Given the description of an element on the screen output the (x, y) to click on. 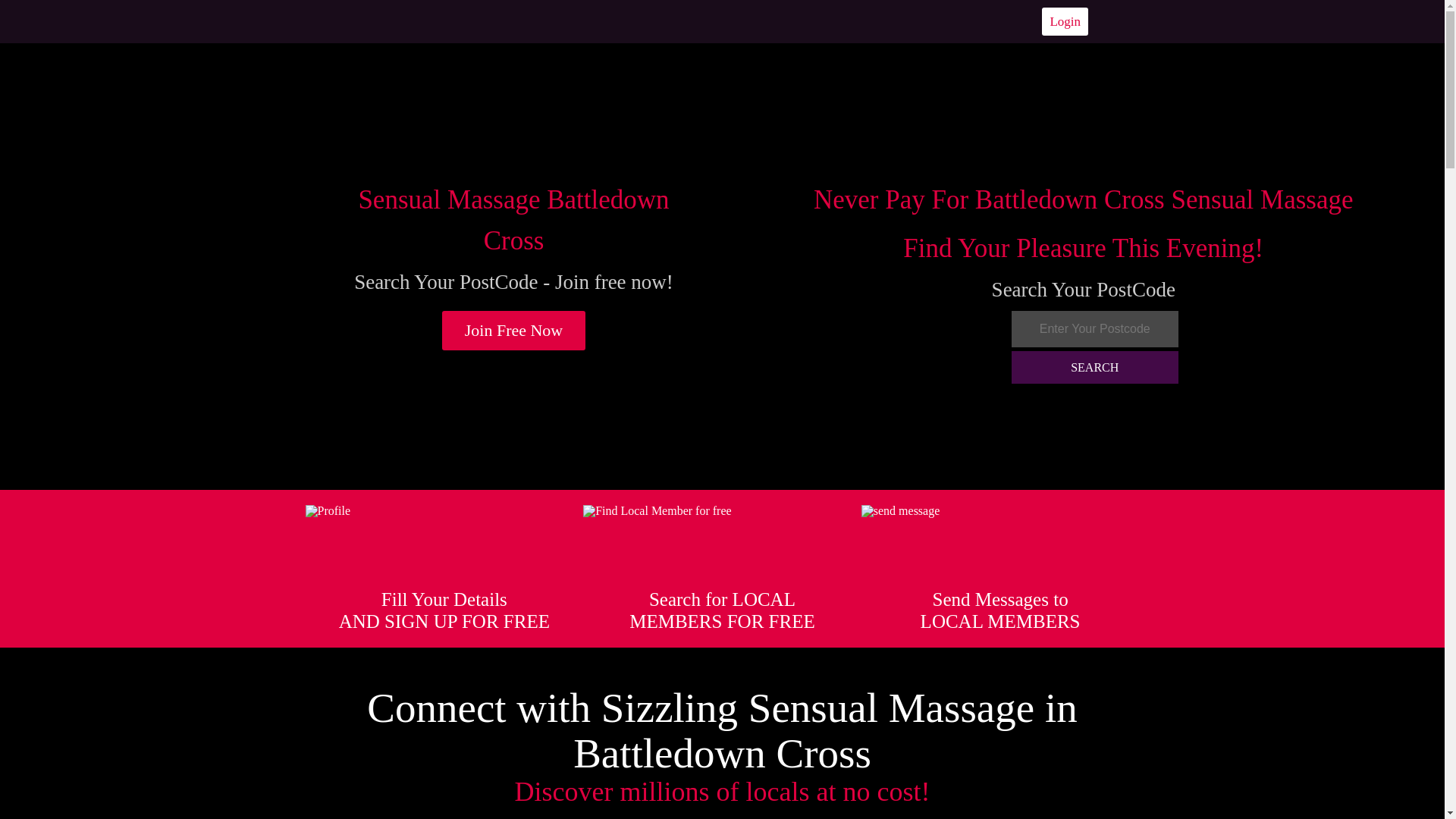
Join Free Now (514, 330)
SEARCH (1094, 367)
Login (1064, 21)
Join (514, 330)
Login (1064, 21)
